Given the description of an element on the screen output the (x, y) to click on. 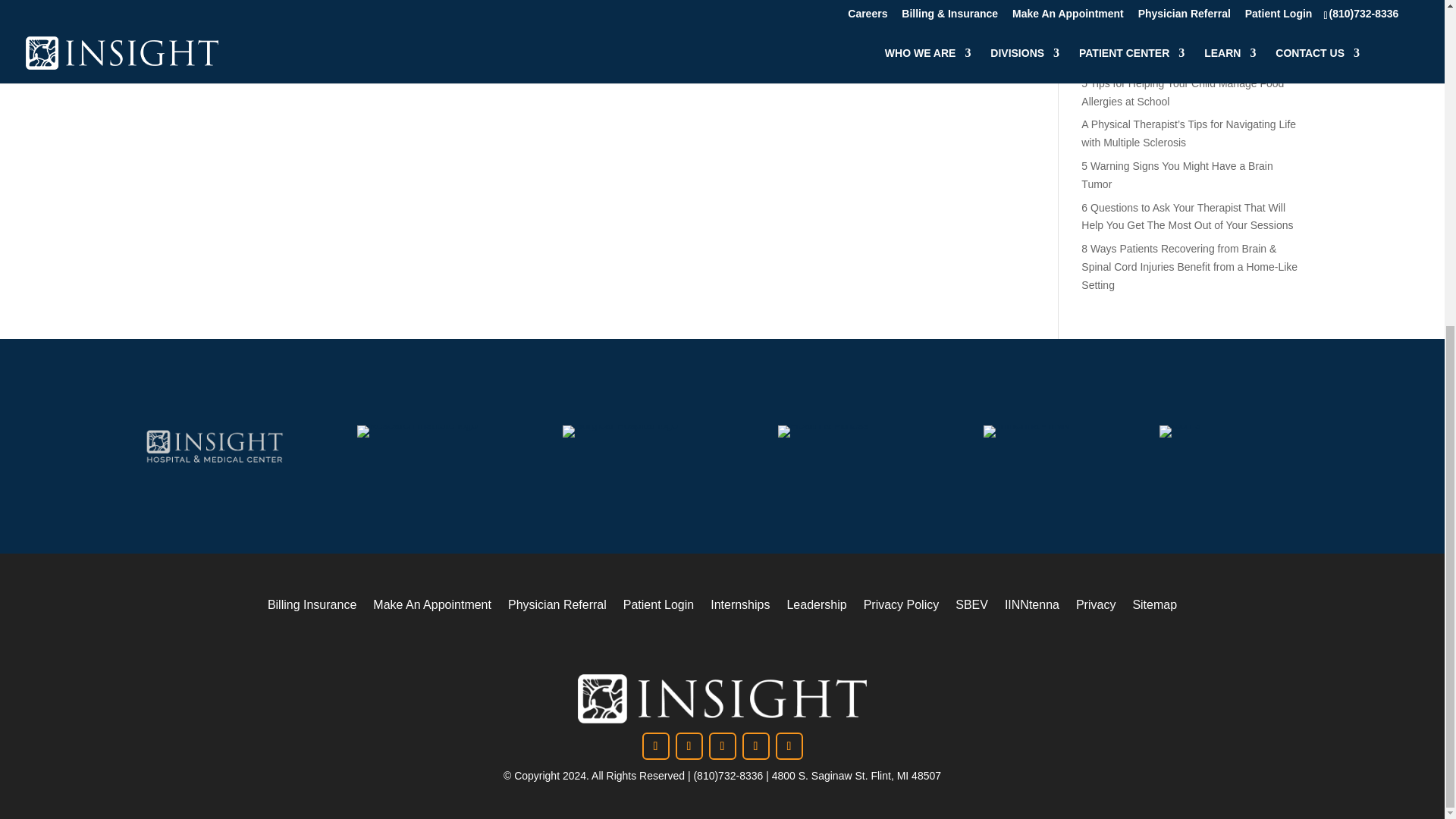
Follow on Instagram (688, 746)
Iinntenna (1027, 431)
Research Institue (416, 431)
2 (1178, 431)
Follow on Facebook (655, 746)
Insight-Logo-White (722, 698)
Follow on TikTok (754, 746)
Follow on Youtube (788, 746)
Follow on LinkedIn (721, 746)
logo health (822, 431)
Surgical Hospital (619, 431)
